Given the description of an element on the screen output the (x, y) to click on. 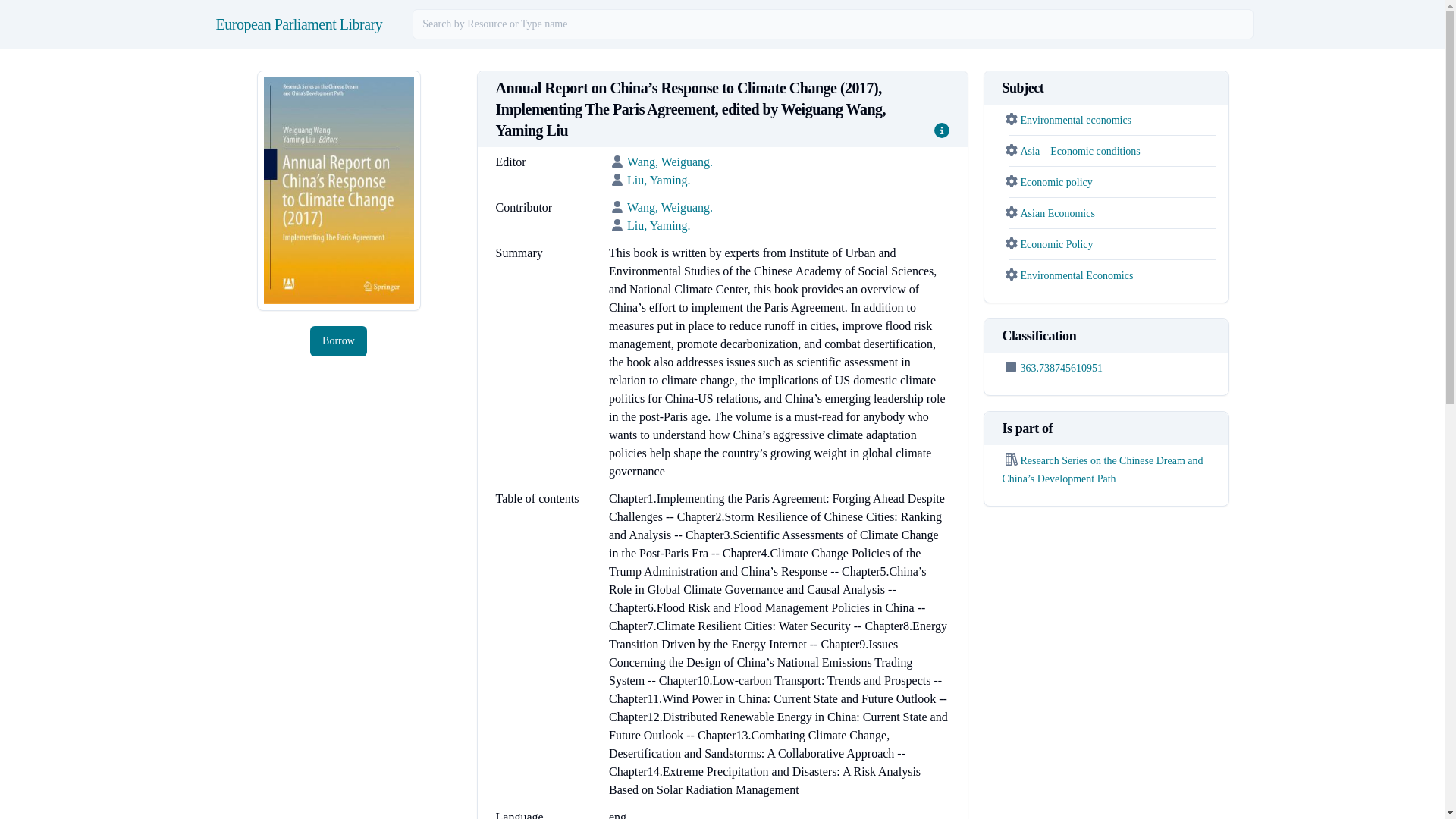
Liu, Yaming. (658, 179)
Wang, Weiguang. (670, 161)
Economic Policy (1056, 244)
363.738745610951 (1061, 367)
Liu, Yaming. (658, 225)
Borrow (338, 340)
European Parliament Library (298, 23)
Asian Economics (1057, 213)
Environmental economics (1076, 120)
Environmental Economics (1077, 275)
Wang, Weiguang. (670, 206)
Economic policy (1056, 182)
